Given the description of an element on the screen output the (x, y) to click on. 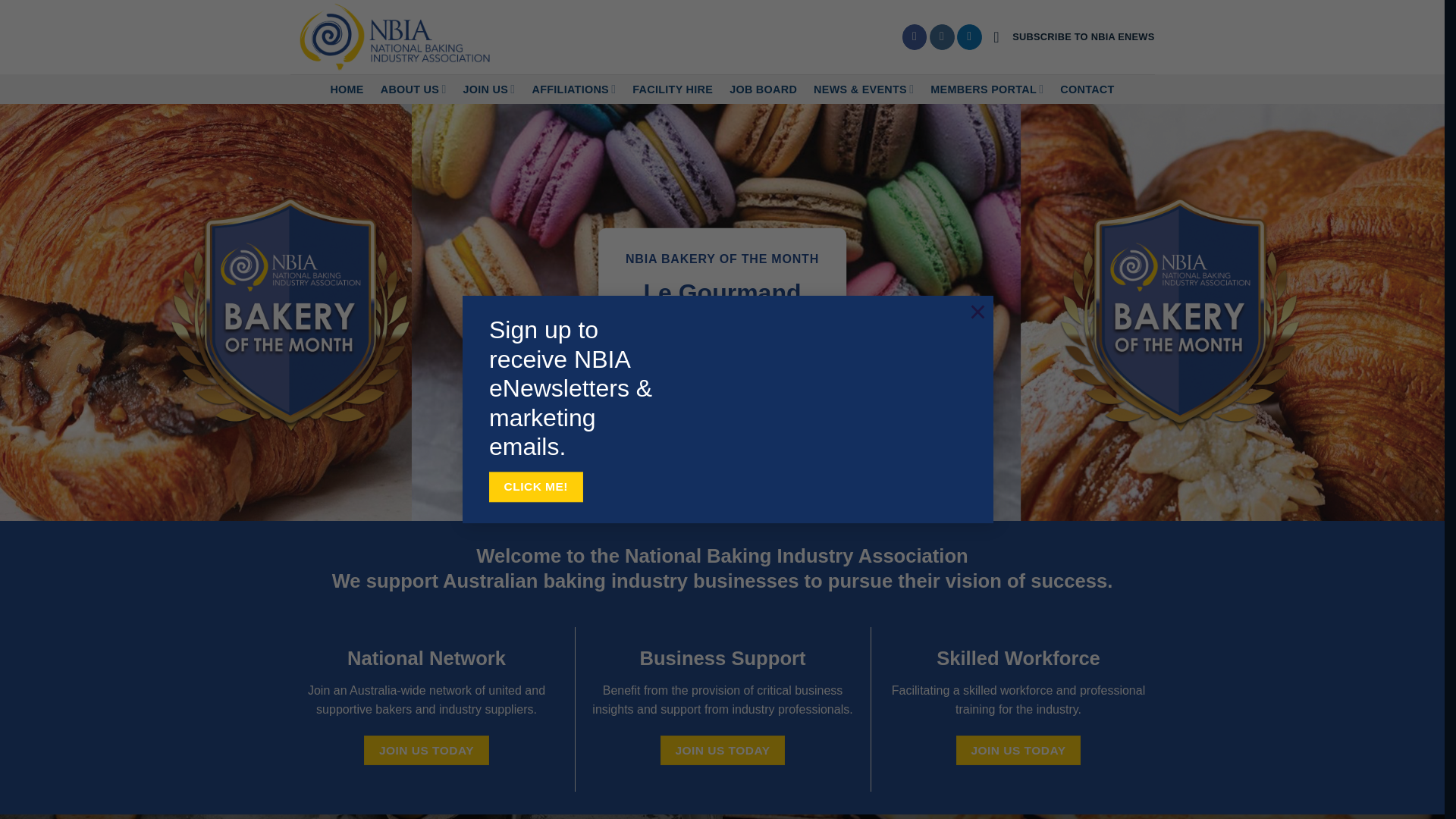
NEWS & EVENTS Element type: text (863, 88)
Follow on Instagram Element type: hover (941, 37)
Follow on LinkedIn Element type: hover (969, 37)
CLICK ME! Element type: text (536, 487)
SUBSCRIBE TO NBIA ENEWS Element type: text (1073, 36)
JOIN US TODAY Element type: text (426, 750)
JOIN US Element type: text (489, 88)
JOB BOARD Element type: text (763, 89)
FACILITY HIRE Element type: text (672, 89)
HOME Element type: text (346, 89)
MEMBERS PORTAL Element type: text (986, 88)
AFFILIATIONS Element type: text (573, 88)
READ MORE Element type: text (721, 364)
Follow on Facebook Element type: hover (914, 37)
JOIN US TODAY Element type: text (722, 750)
JOIN US TODAY Element type: text (1018, 750)
ABOUT US Element type: text (413, 88)
CONTACT Element type: text (1086, 89)
National Baking Industry Association Element type: hover (395, 37)
